Given the description of an element on the screen output the (x, y) to click on. 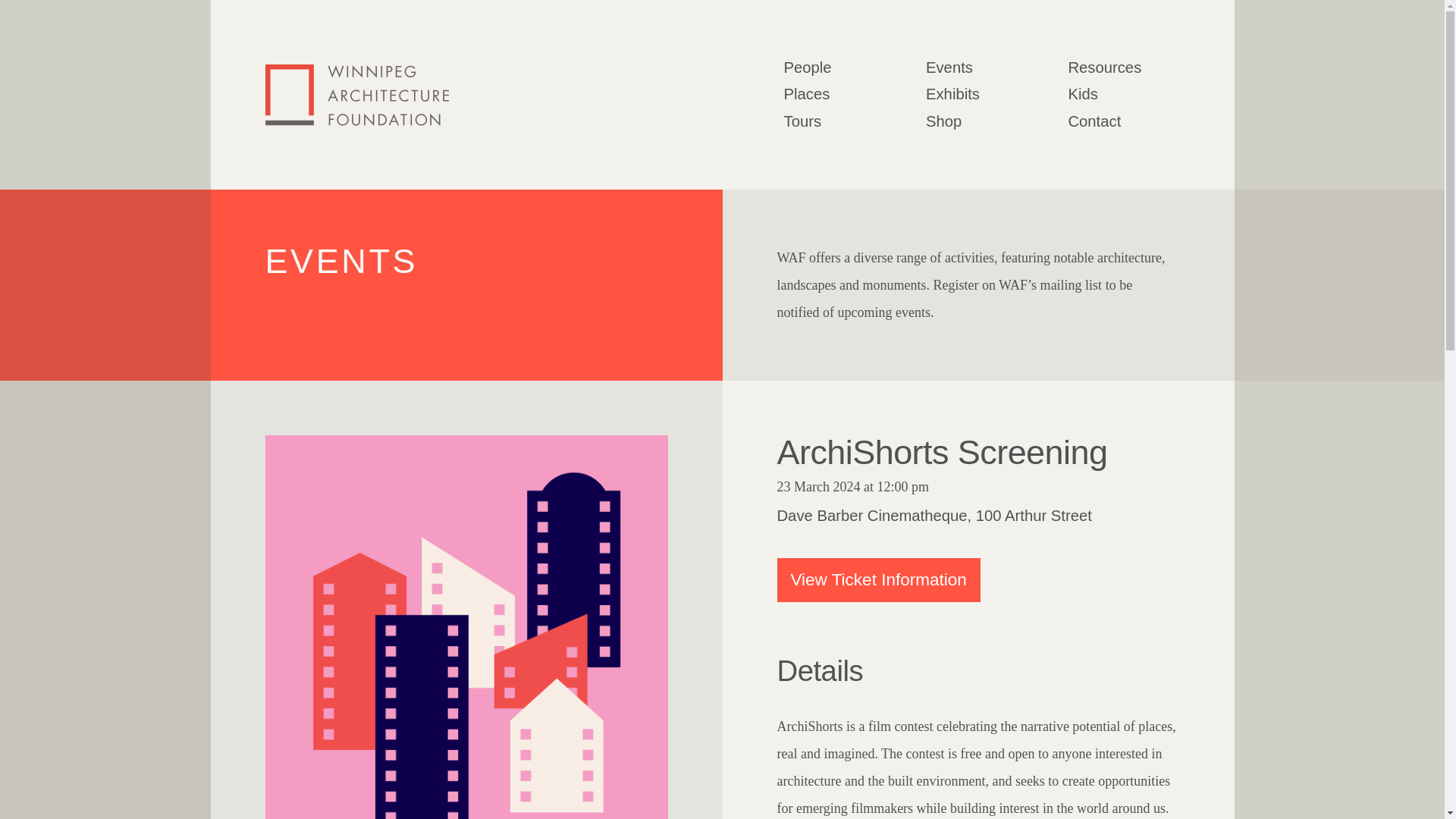
People (807, 67)
Exhibits (952, 93)
EVENTS (341, 260)
Kids (1082, 93)
Places (806, 93)
Shop (943, 121)
Contact (1094, 121)
Resources (1104, 67)
Events (949, 67)
View Ticket Information (877, 579)
